Given the description of an element on the screen output the (x, y) to click on. 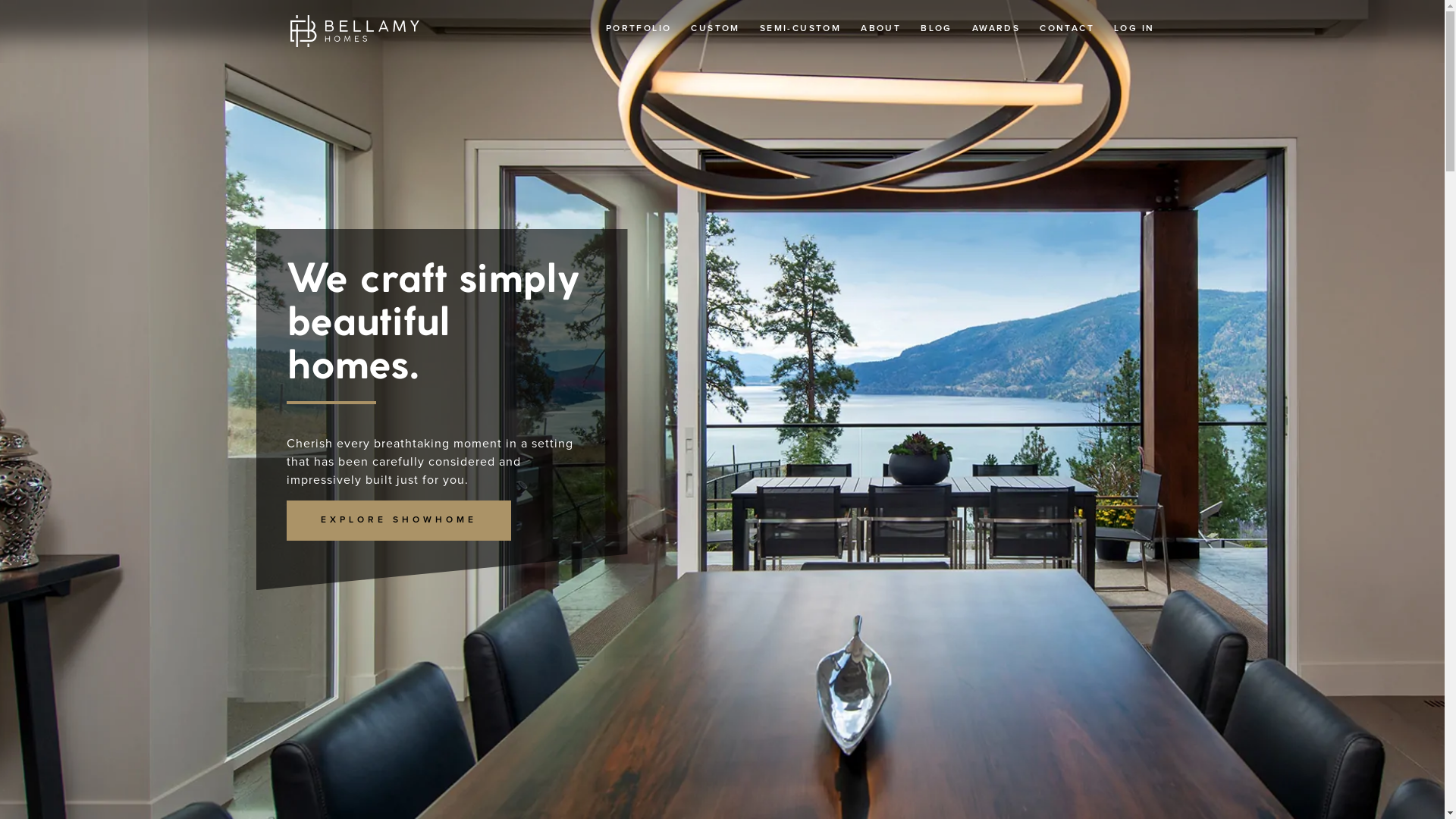
SEMI-CUSTOM Element type: text (799, 28)
CONTACT Element type: text (1066, 28)
CUSTOM Element type: text (714, 28)
BLOG Element type: text (936, 28)
EXPLORE SHOWHOME Element type: text (398, 519)
ABOUT Element type: text (880, 28)
LOG IN Element type: text (1133, 28)
AWARDS Element type: text (995, 28)
PORTFOLIO Element type: text (638, 28)
